Given the description of an element on the screen output the (x, y) to click on. 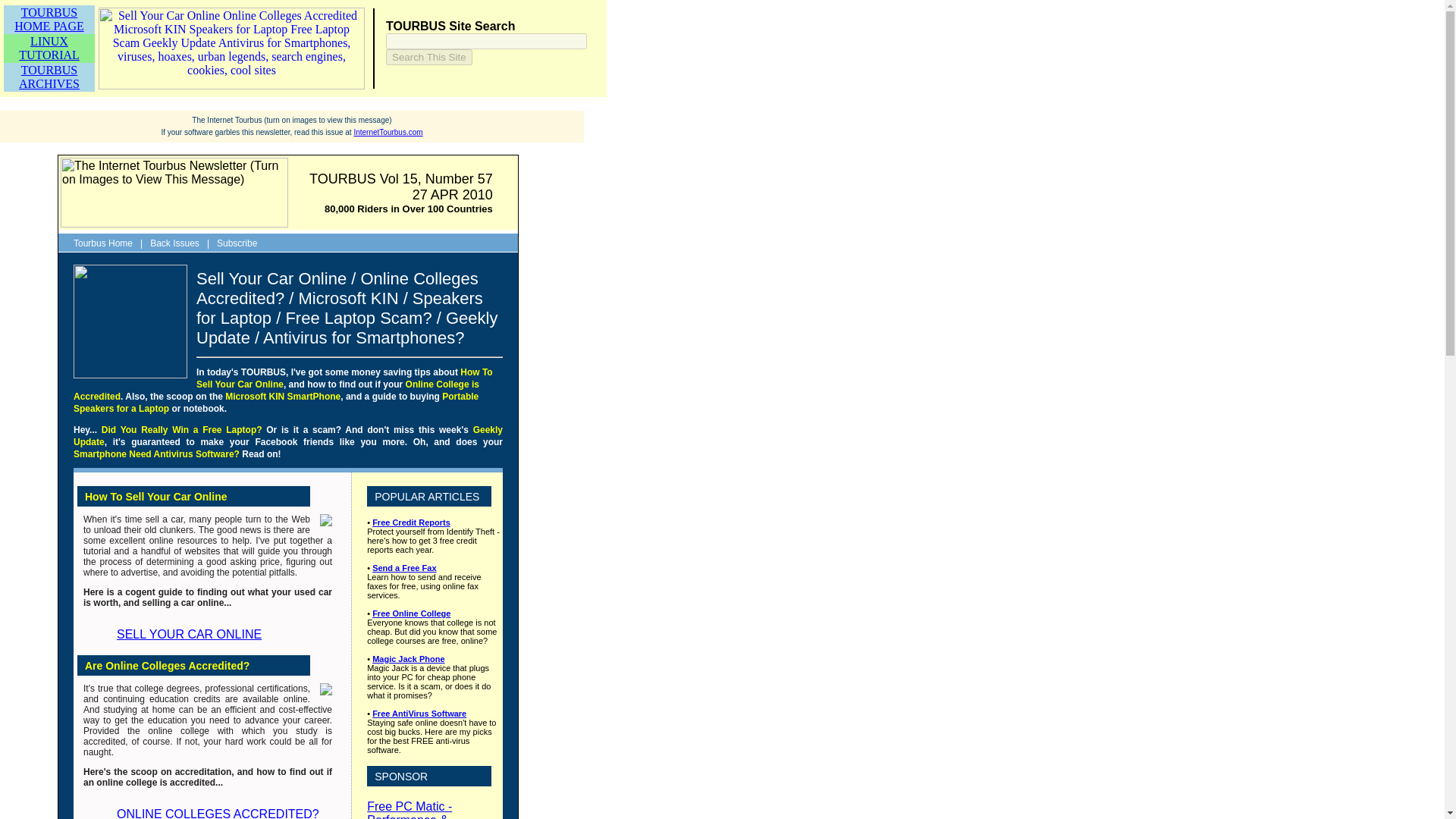
Magic Jack Phone (408, 658)
Search This Site (428, 57)
InternetTourbus.com (387, 131)
ONLINE COLLEGES ACCREDITED? (208, 813)
Tourbus Home (103, 243)
Free AntiVirus Software (49, 48)
SELL YOUR CAR ONLINE (418, 713)
Subscribe (180, 634)
Free Credit Reports (236, 243)
Send a Free Fax (48, 18)
Back Issues (410, 522)
Free Online College (403, 567)
